Given the description of an element on the screen output the (x, y) to click on. 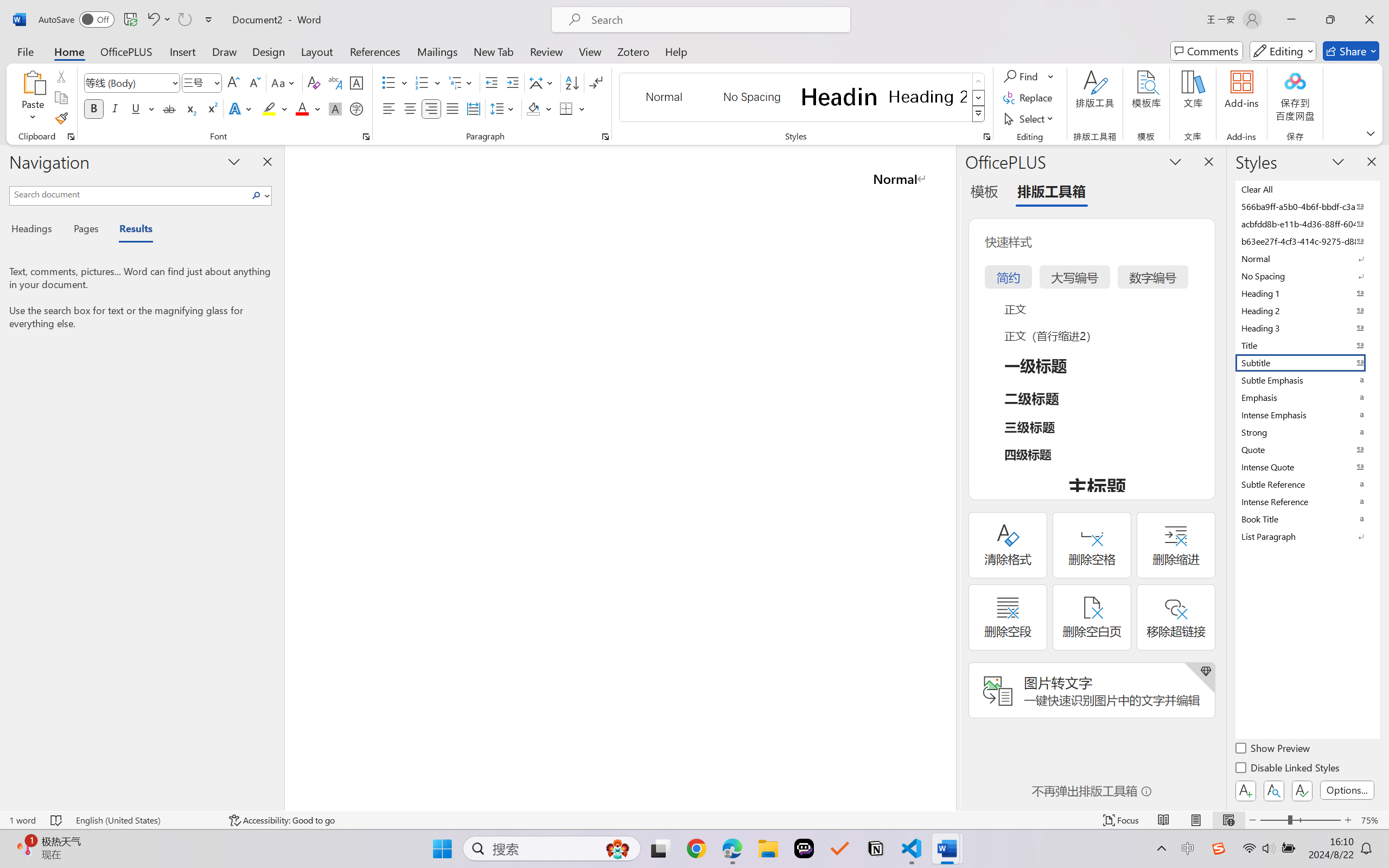
Web Layout (1228, 819)
Title (1306, 345)
Enclose Characters... (356, 108)
Heading 2 (927, 96)
Class: NetUIButton (1301, 790)
File Tab (24, 51)
Character Shading (334, 108)
